Given the description of an element on the screen output the (x, y) to click on. 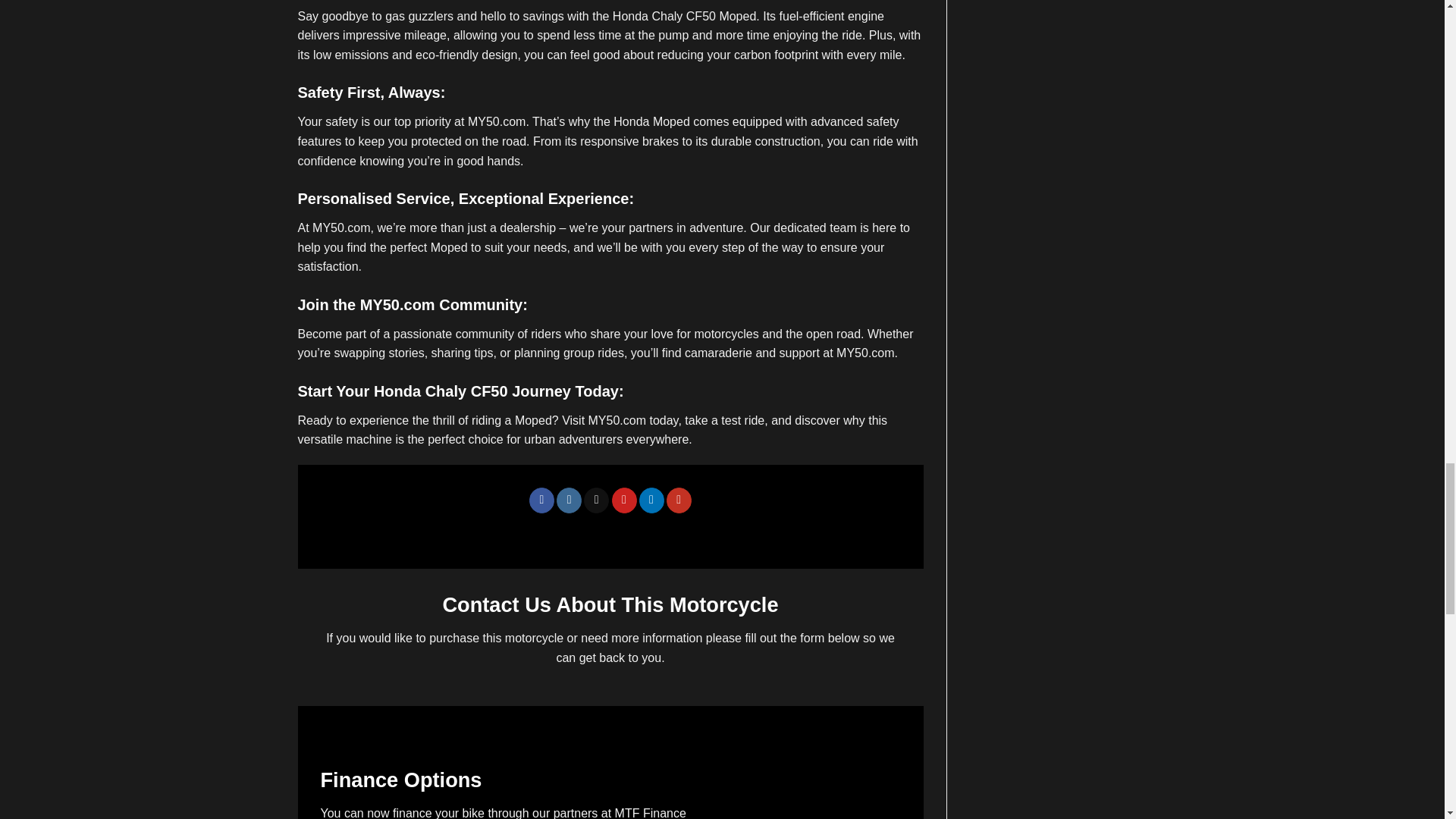
Follow on YouTube (678, 500)
Follow on LinkedIn (651, 500)
Follow on Instagram (568, 500)
Follow on TikTok (595, 500)
Follow on Facebook (541, 500)
Follow on Pinterest (624, 500)
